Given the description of an element on the screen output the (x, y) to click on. 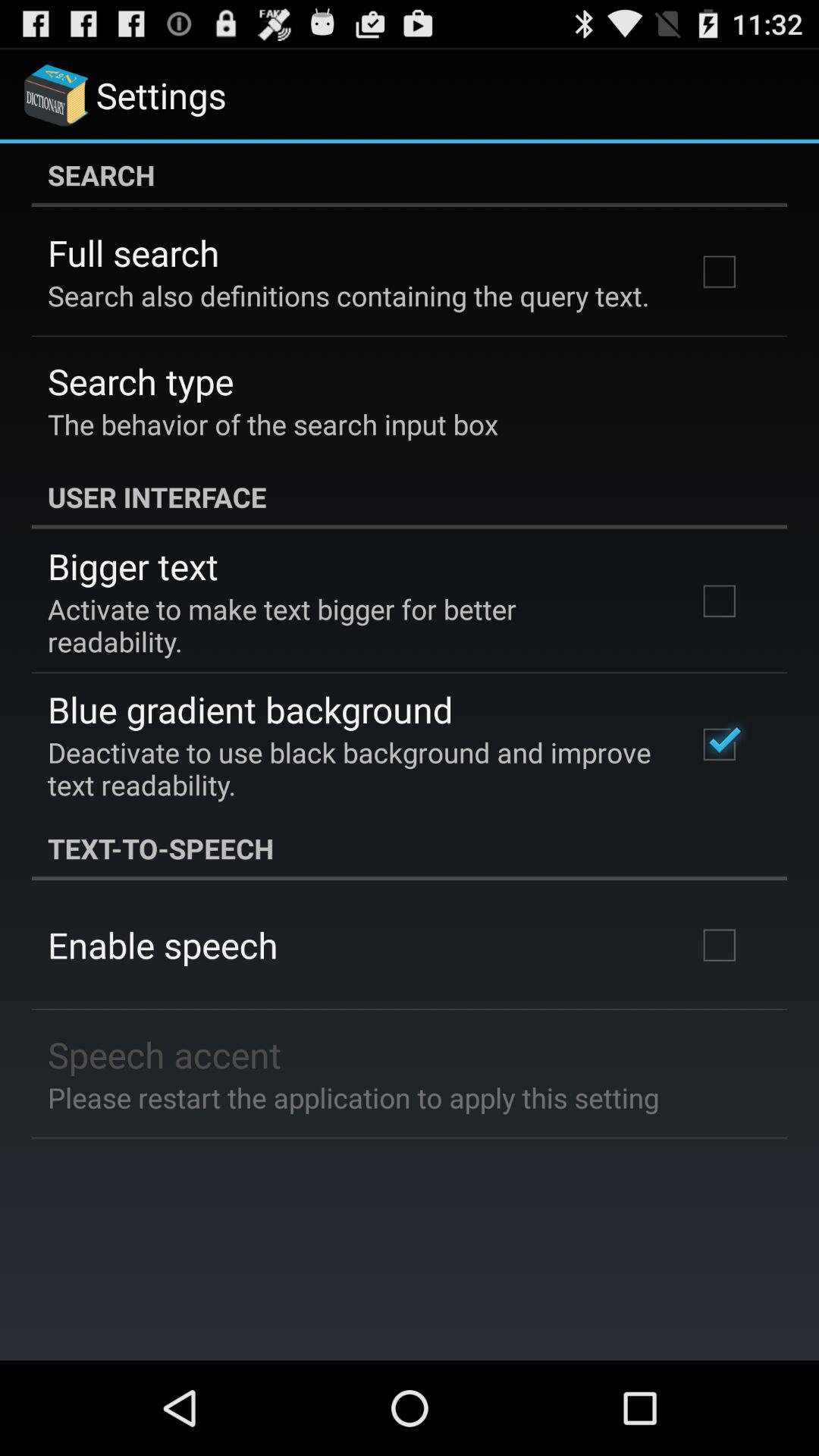
tap the app below the behavior of (409, 496)
